Given the description of an element on the screen output the (x, y) to click on. 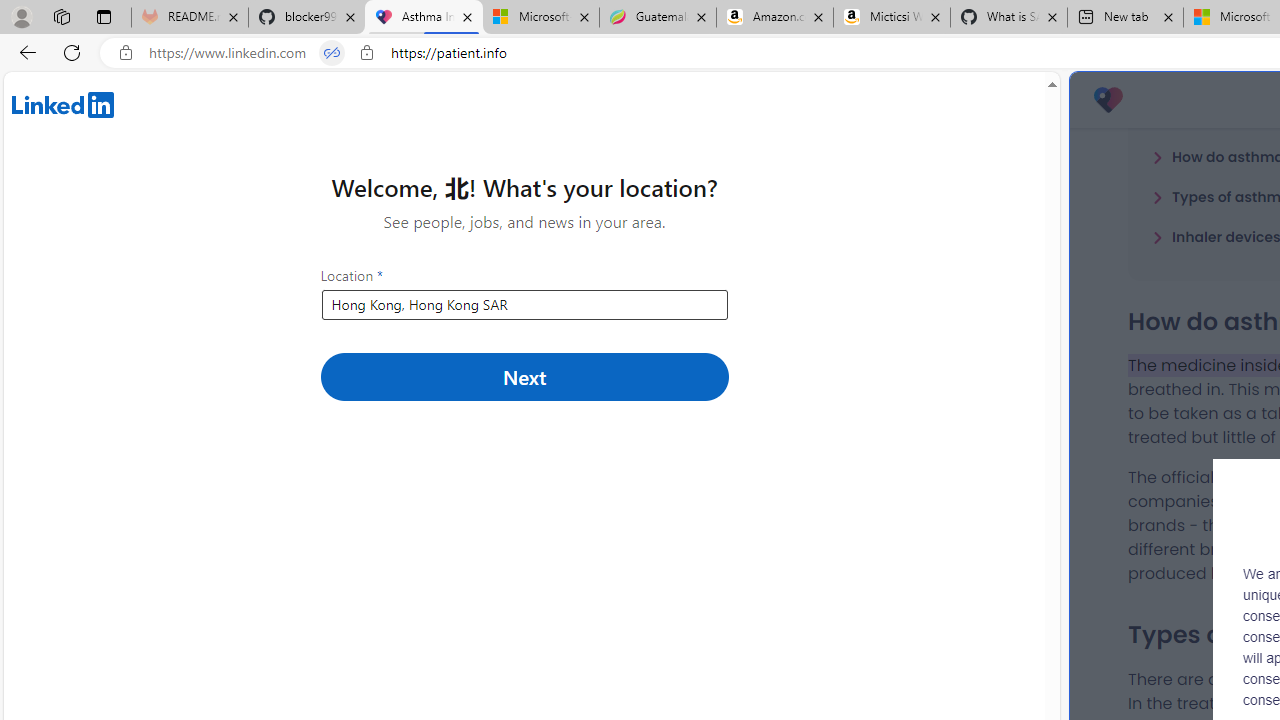
Tabs in split screen (331, 53)
